Given the description of an element on the screen output the (x, y) to click on. 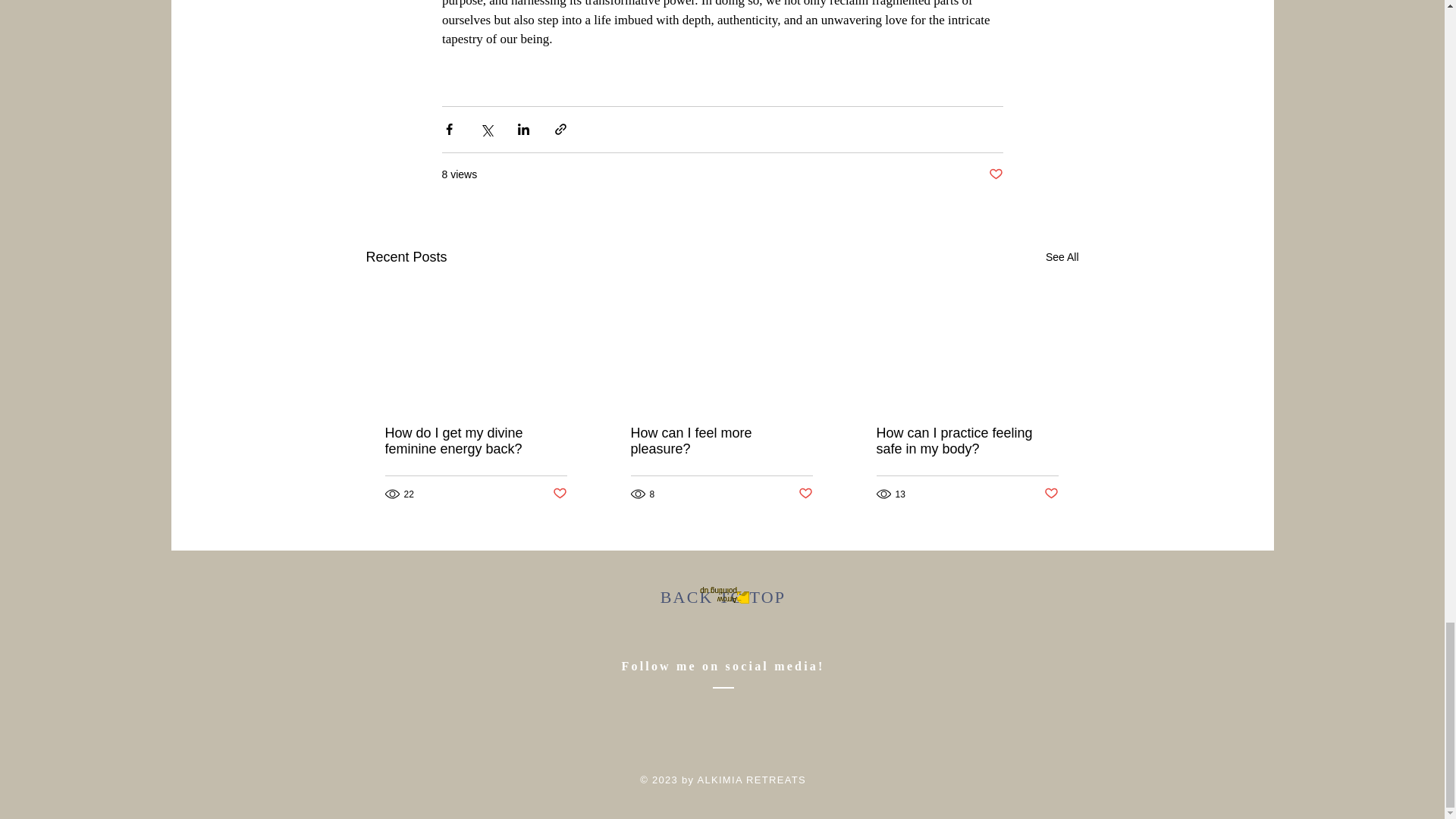
Post not marked as liked (995, 174)
BACK TO TOP (723, 597)
See All (1061, 257)
Post not marked as liked (558, 494)
How can I feel more pleasure? (721, 441)
Post not marked as liked (804, 494)
How can I practice feeling safe in my body? (967, 441)
How do I get my divine feminine energy back? (476, 441)
Post not marked as liked (1050, 494)
